Given the description of an element on the screen output the (x, y) to click on. 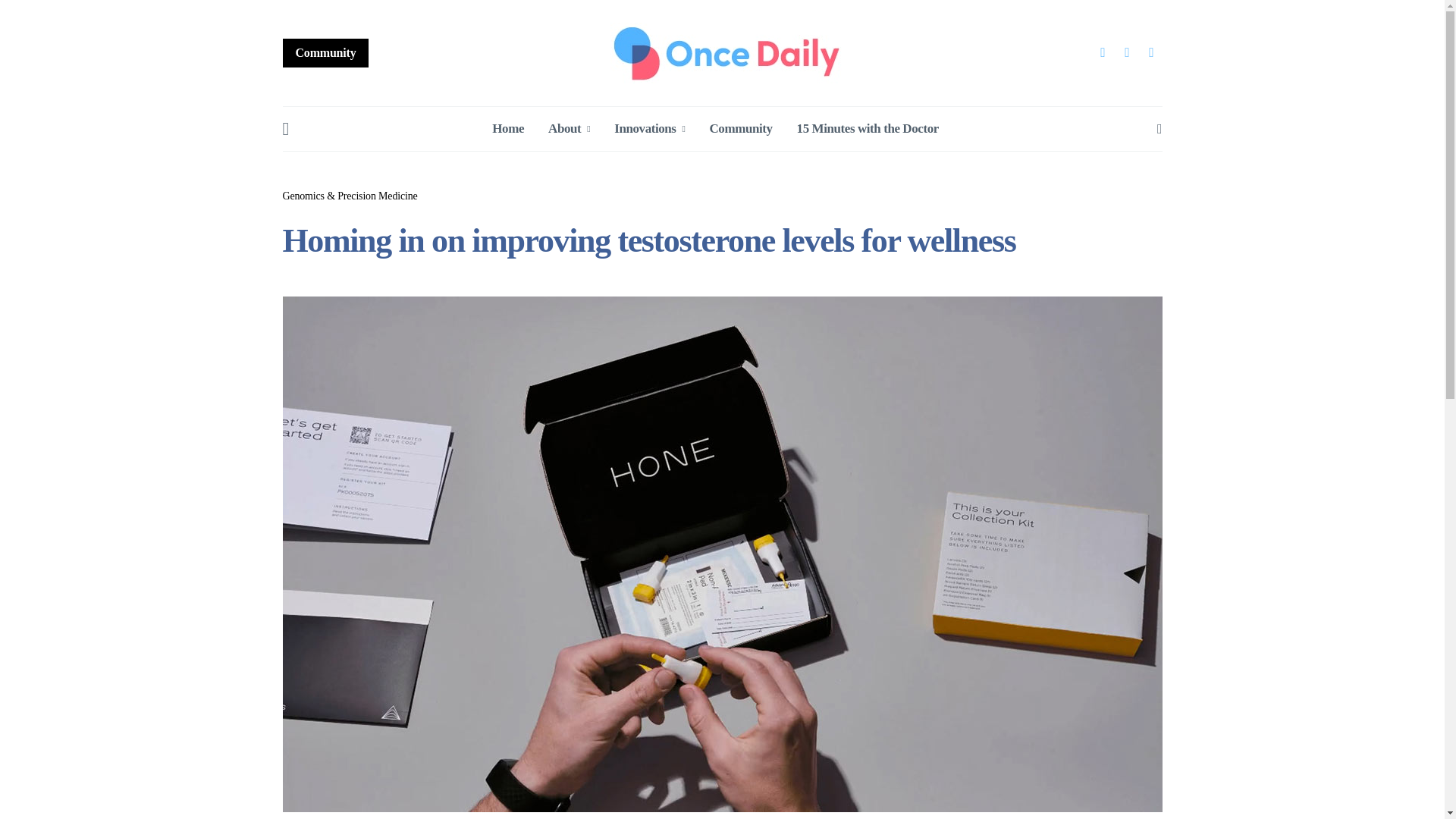
Community (325, 52)
About (568, 128)
Innovations (649, 128)
